Given the description of an element on the screen output the (x, y) to click on. 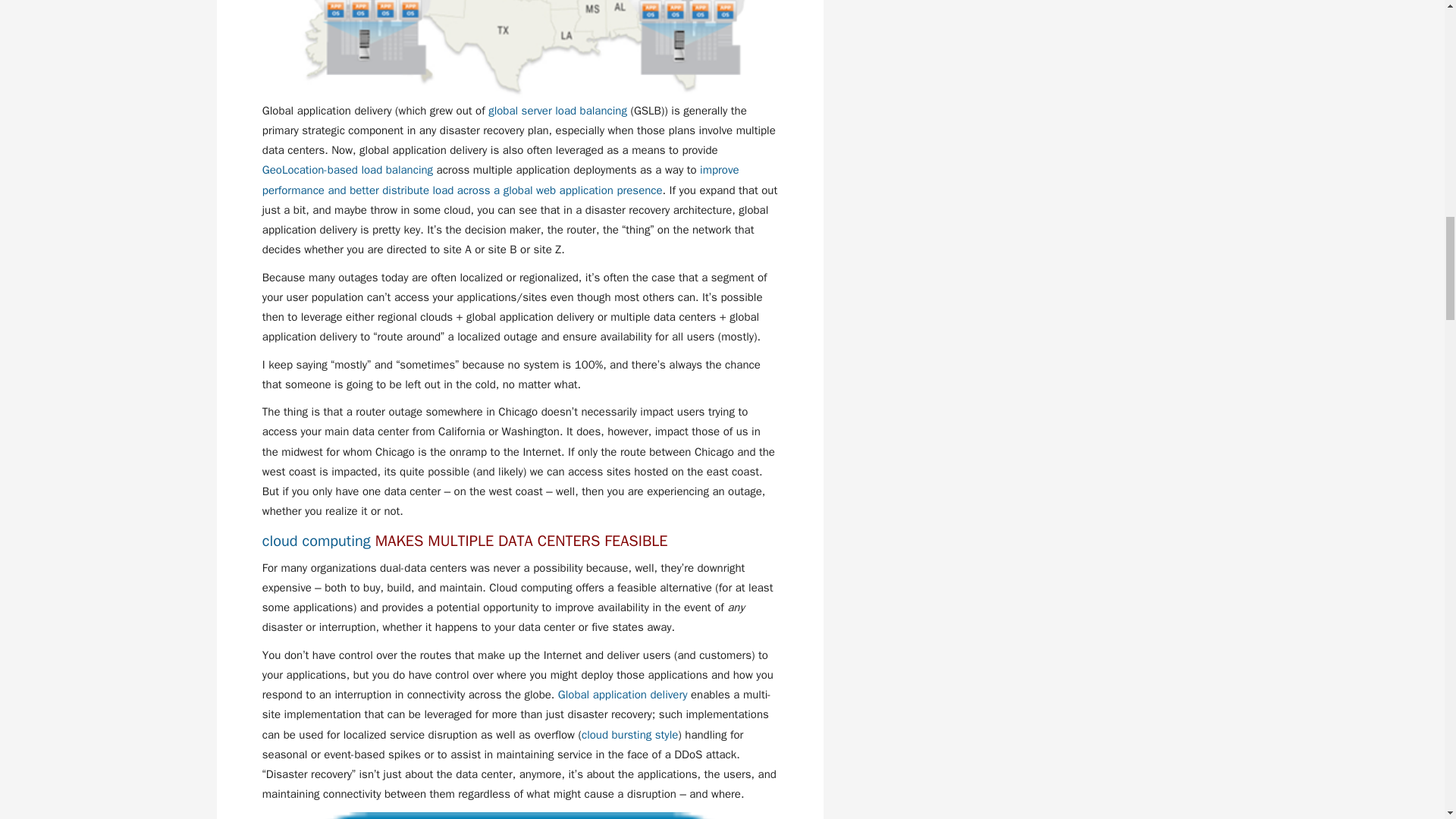
global server load balancing (557, 110)
cloud computing (318, 540)
GeoLocation-based load balancing (347, 169)
Global application delivery (622, 694)
cloud bursting style (629, 735)
